Given the description of an element on the screen output the (x, y) to click on. 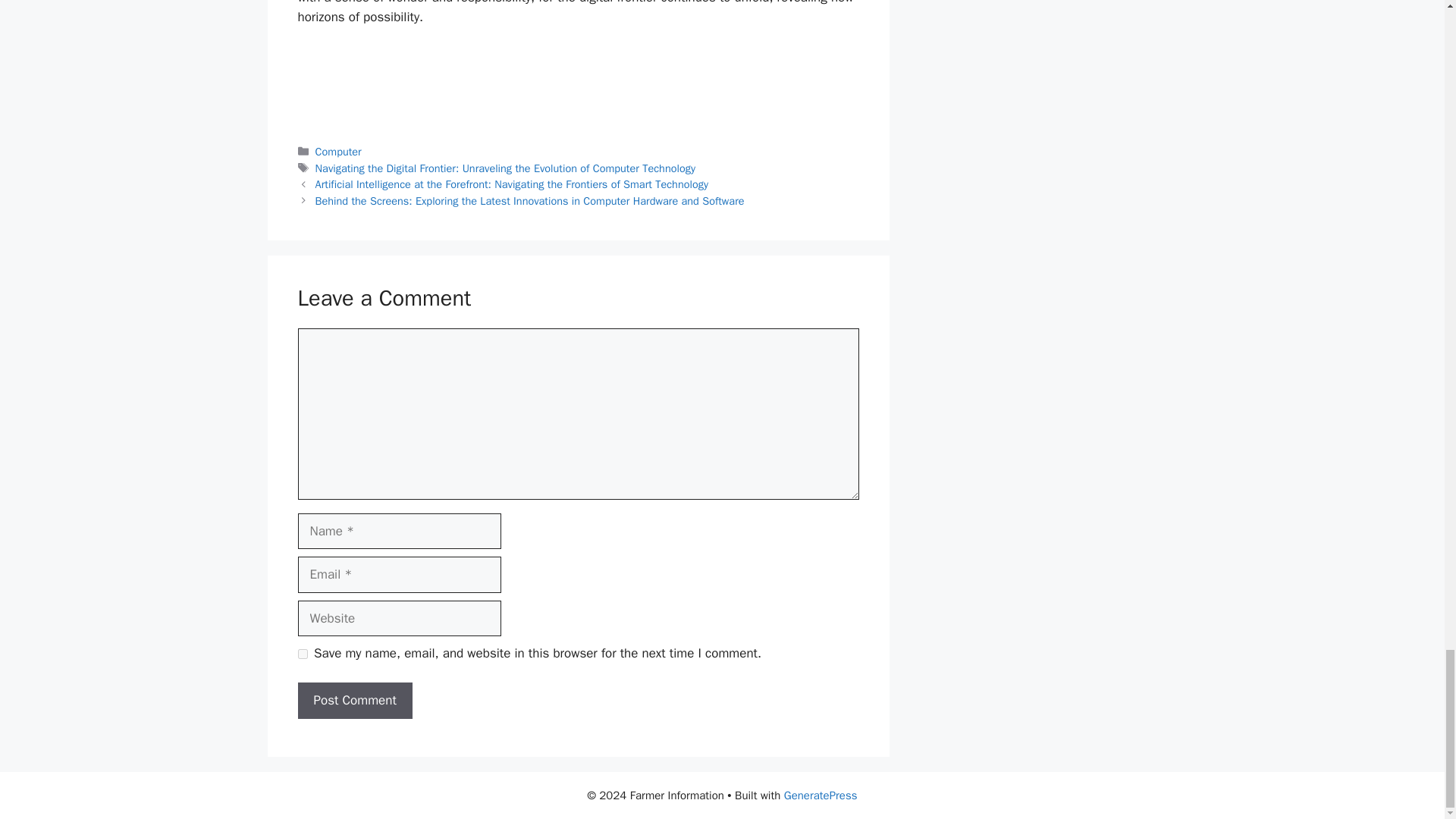
GeneratePress (820, 795)
Computer (338, 151)
Post Comment (354, 700)
yes (302, 654)
Post Comment (354, 700)
